Given the description of an element on the screen output the (x, y) to click on. 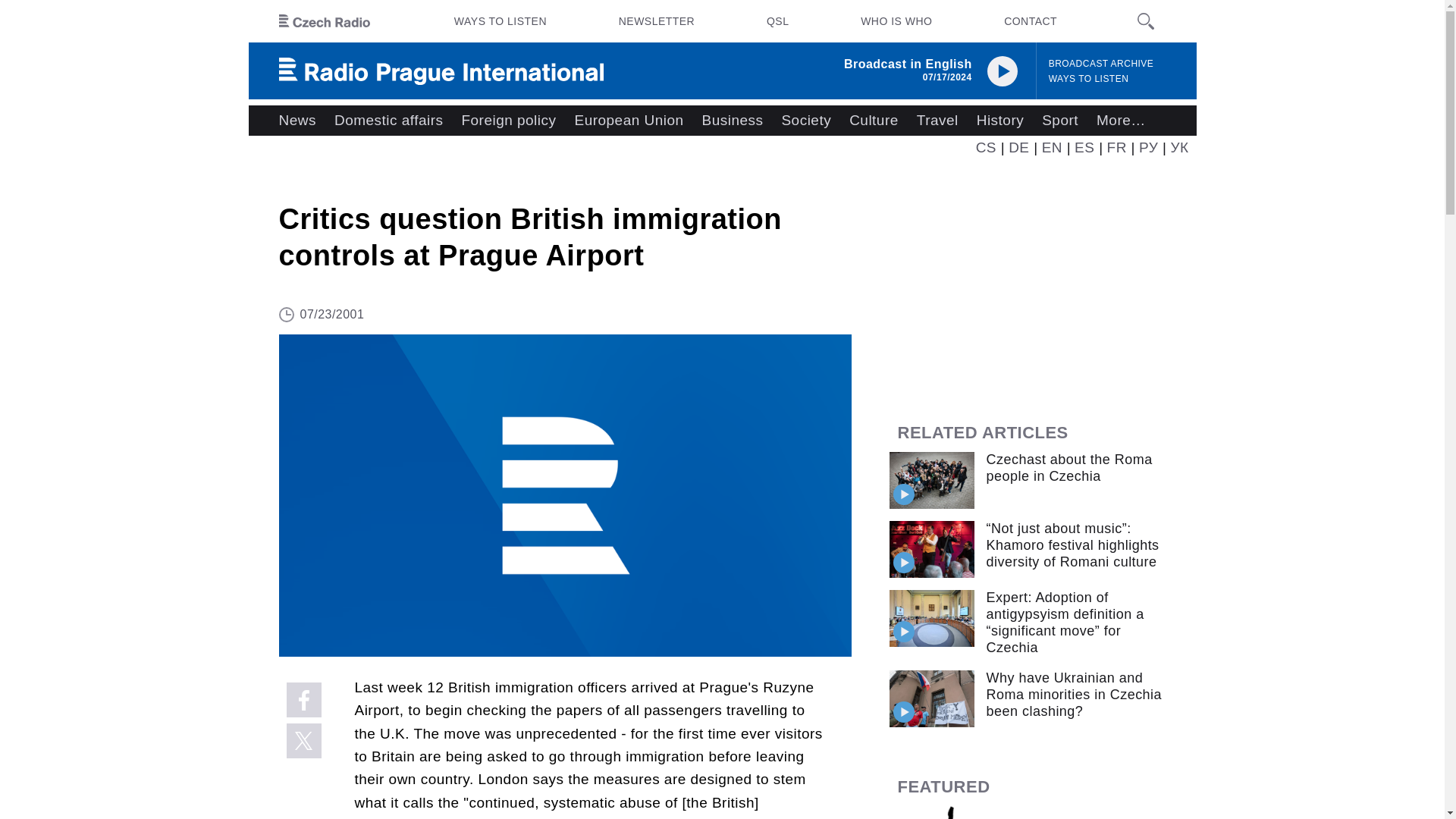
Business (733, 120)
DE (1019, 147)
EN (1052, 147)
European Union (628, 120)
Domestic affairs (388, 120)
ES (1084, 147)
WAYS TO LISTEN (500, 21)
Society (805, 120)
Travel (937, 120)
Culture (873, 120)
Foreign policy (507, 120)
News (296, 120)
WHO IS WHO (896, 21)
BROADCAST ARCHIVE (1101, 63)
